Given the description of an element on the screen output the (x, y) to click on. 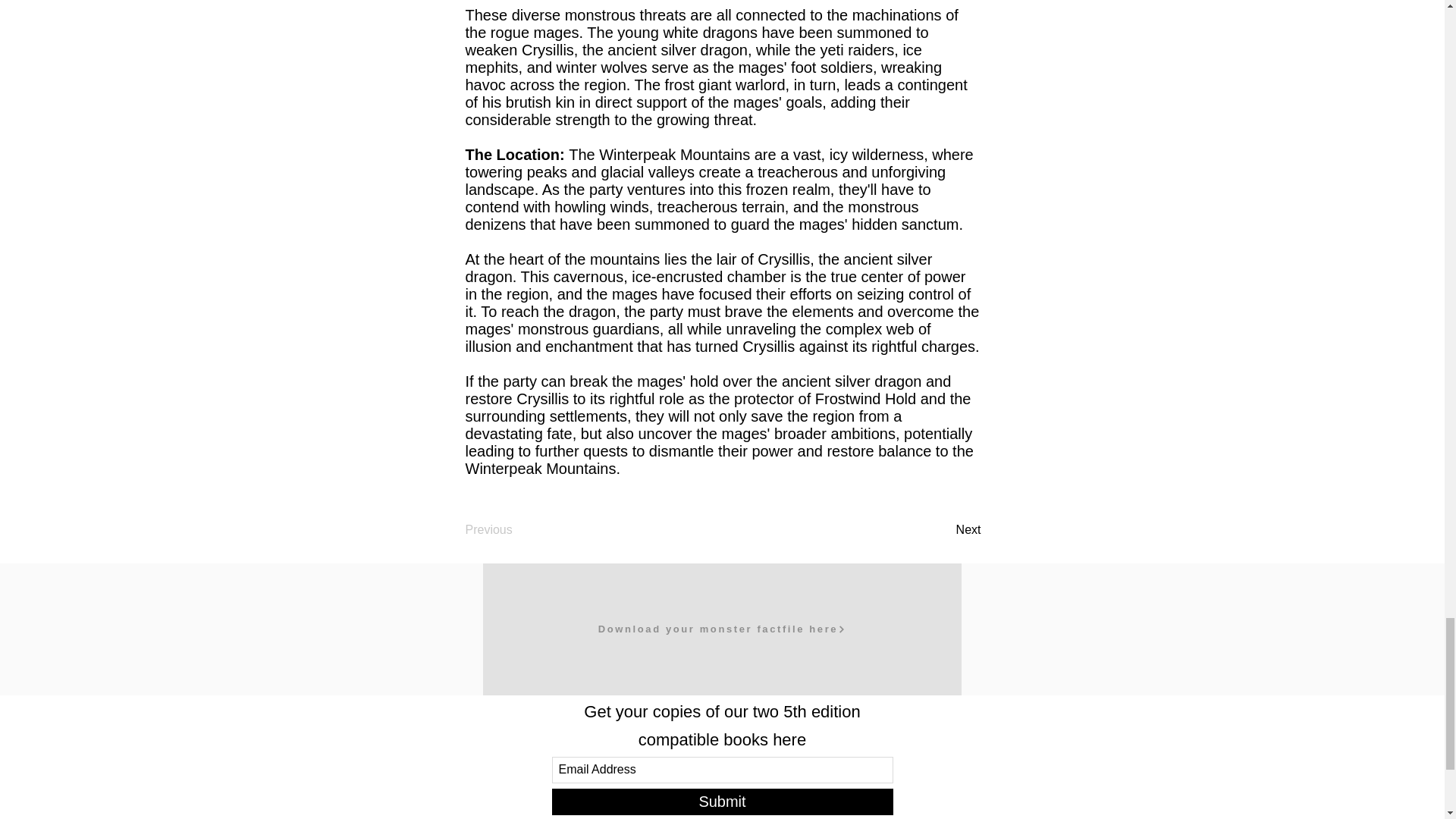
Download your monster factfile here (720, 629)
Previous (515, 530)
Next (943, 530)
DOWNLOAD (709, 580)
Submit (722, 801)
